Given the description of an element on the screen output the (x, y) to click on. 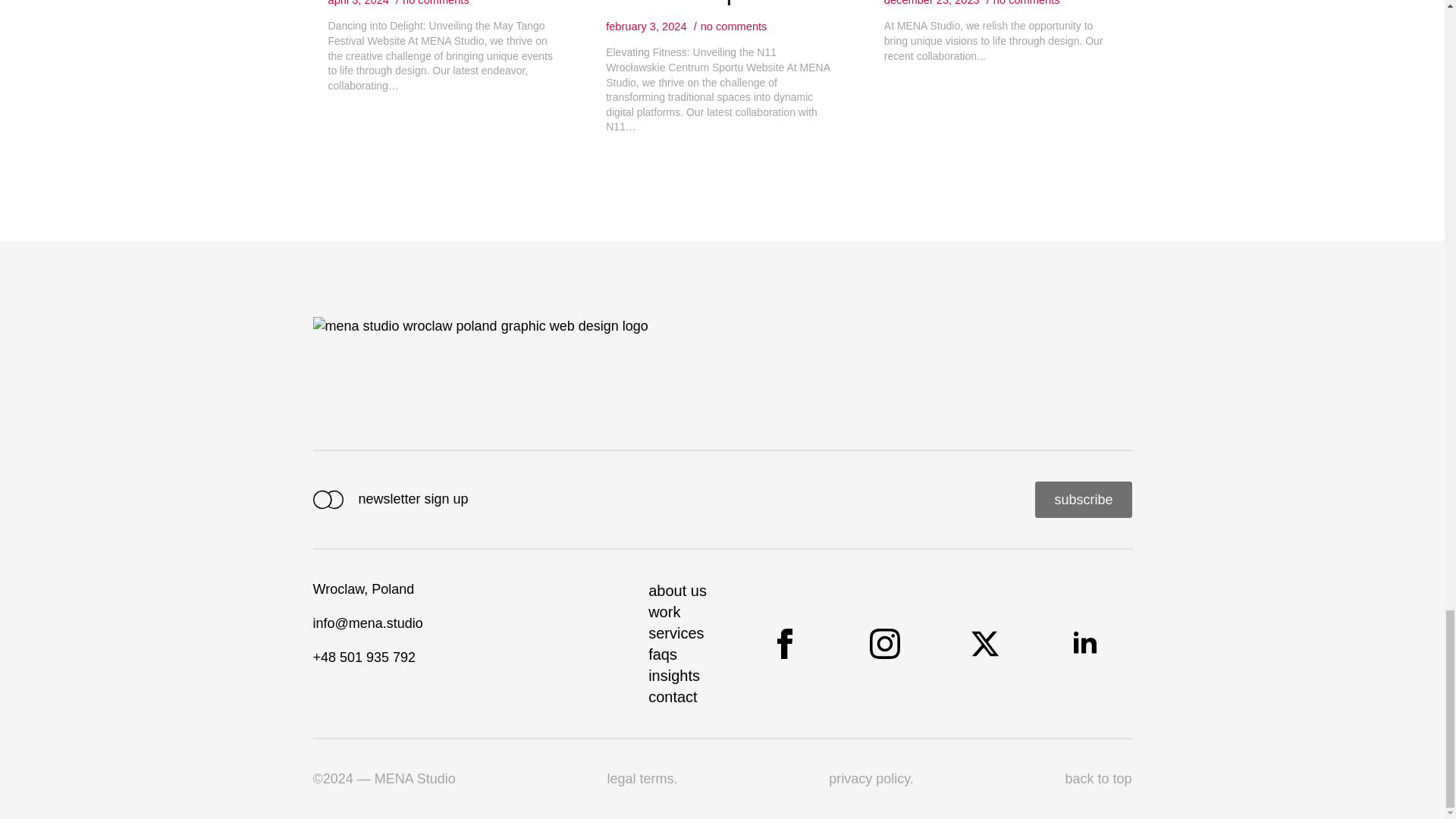
insights (673, 675)
subscribe (1083, 499)
faqs (662, 654)
about us (676, 590)
contact (672, 696)
services (675, 632)
work (663, 611)
